Given the description of an element on the screen output the (x, y) to click on. 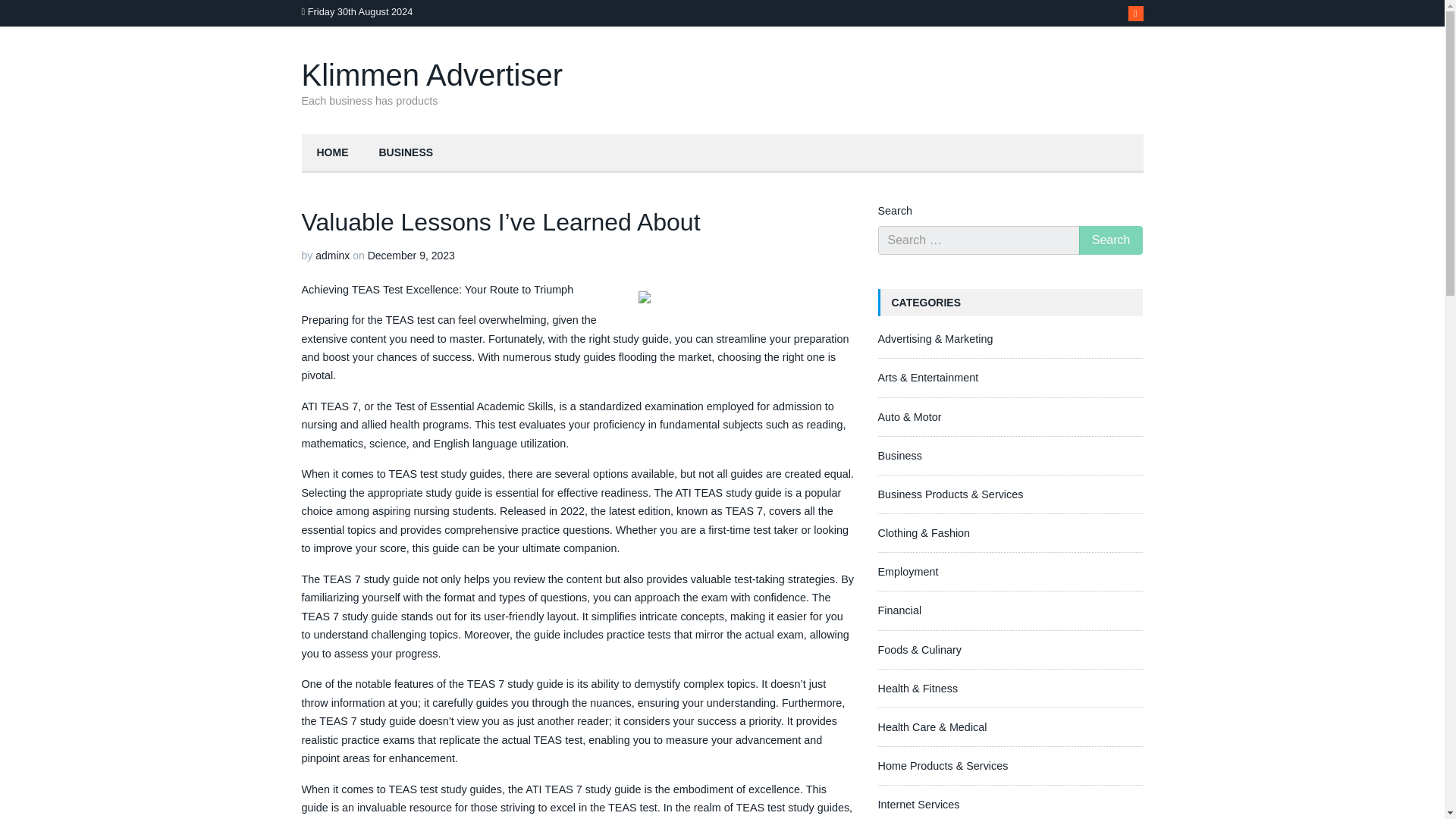
Search (1110, 240)
HOME (332, 153)
Internet Services (918, 804)
Employment (908, 571)
adminx (332, 255)
Financial (899, 610)
Search (1110, 240)
Home (332, 153)
Business (406, 153)
December 9, 2023 (411, 255)
